Given the description of an element on the screen output the (x, y) to click on. 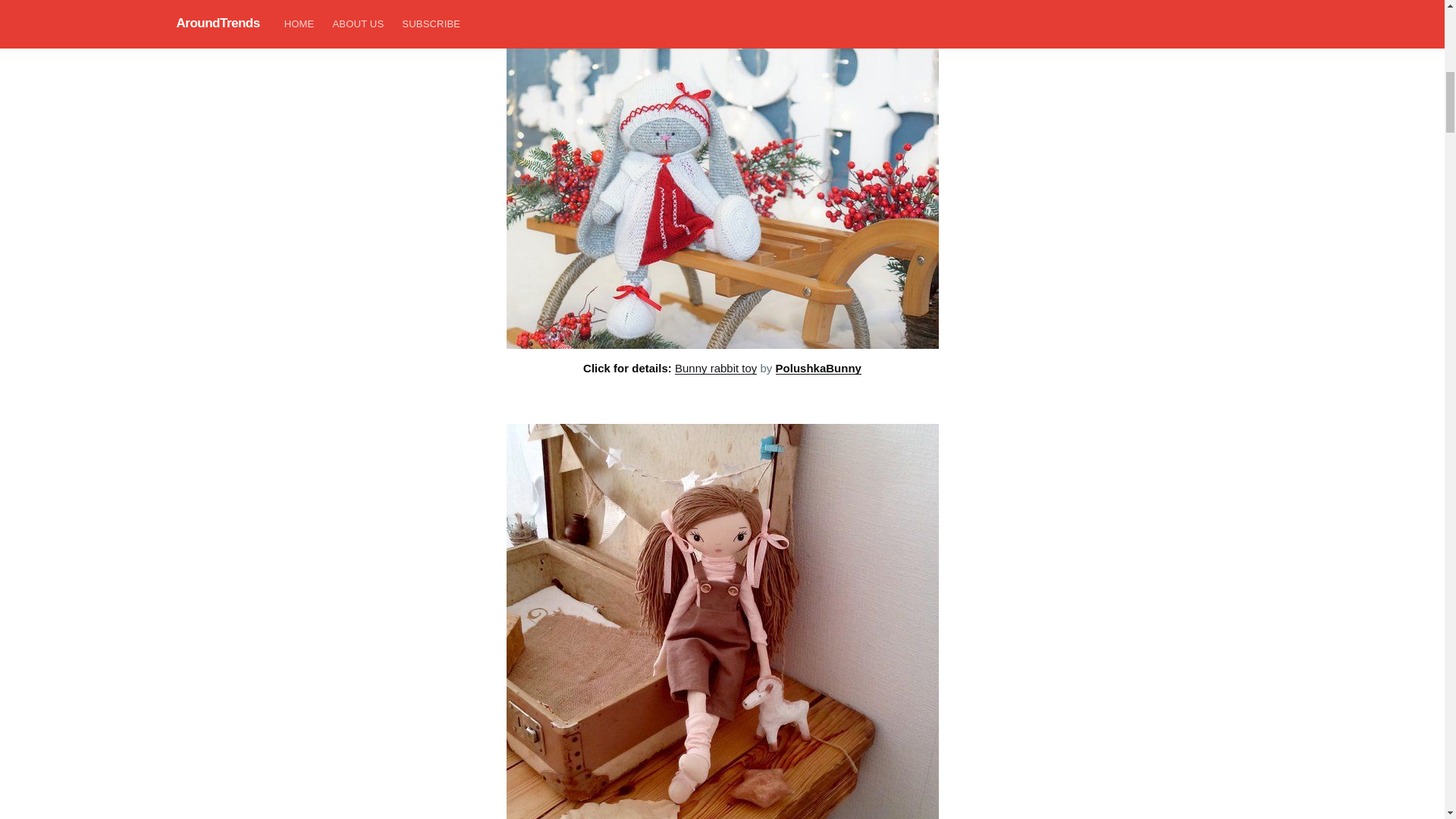
PolushkaBunny (818, 367)
Bunny rabbit toy (716, 367)
